Given the description of an element on the screen output the (x, y) to click on. 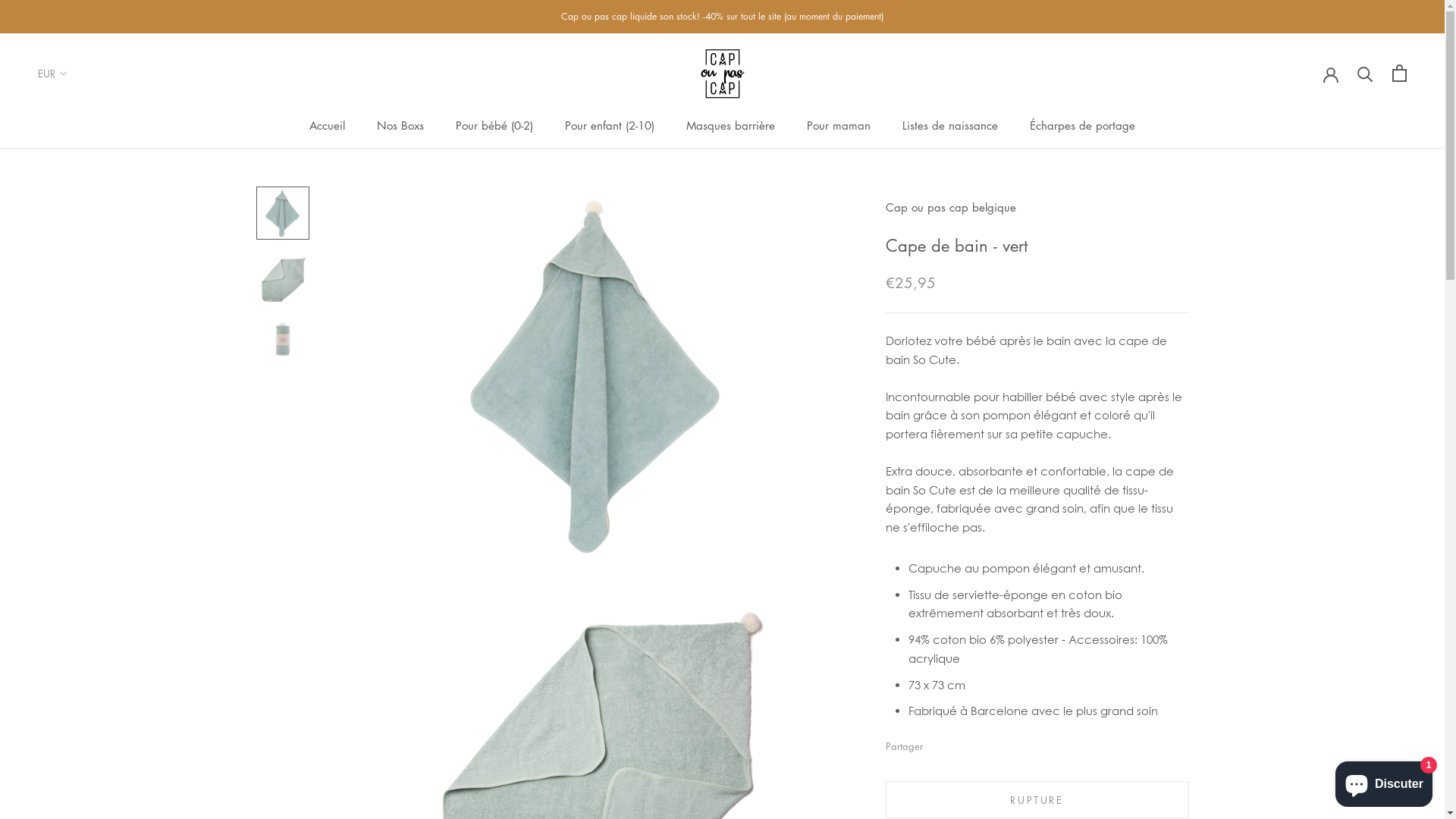
Accueil
Accueil Element type: text (327, 124)
Listes de naissance Element type: text (949, 124)
Nos Boxs Element type: text (399, 124)
Pour maman Element type: text (838, 124)
RUPTURE Element type: text (1037, 799)
Pour enfant (2-10) Element type: text (609, 124)
Chat de la boutique en ligne Shopify Element type: hover (1383, 780)
